Given the description of an element on the screen output the (x, y) to click on. 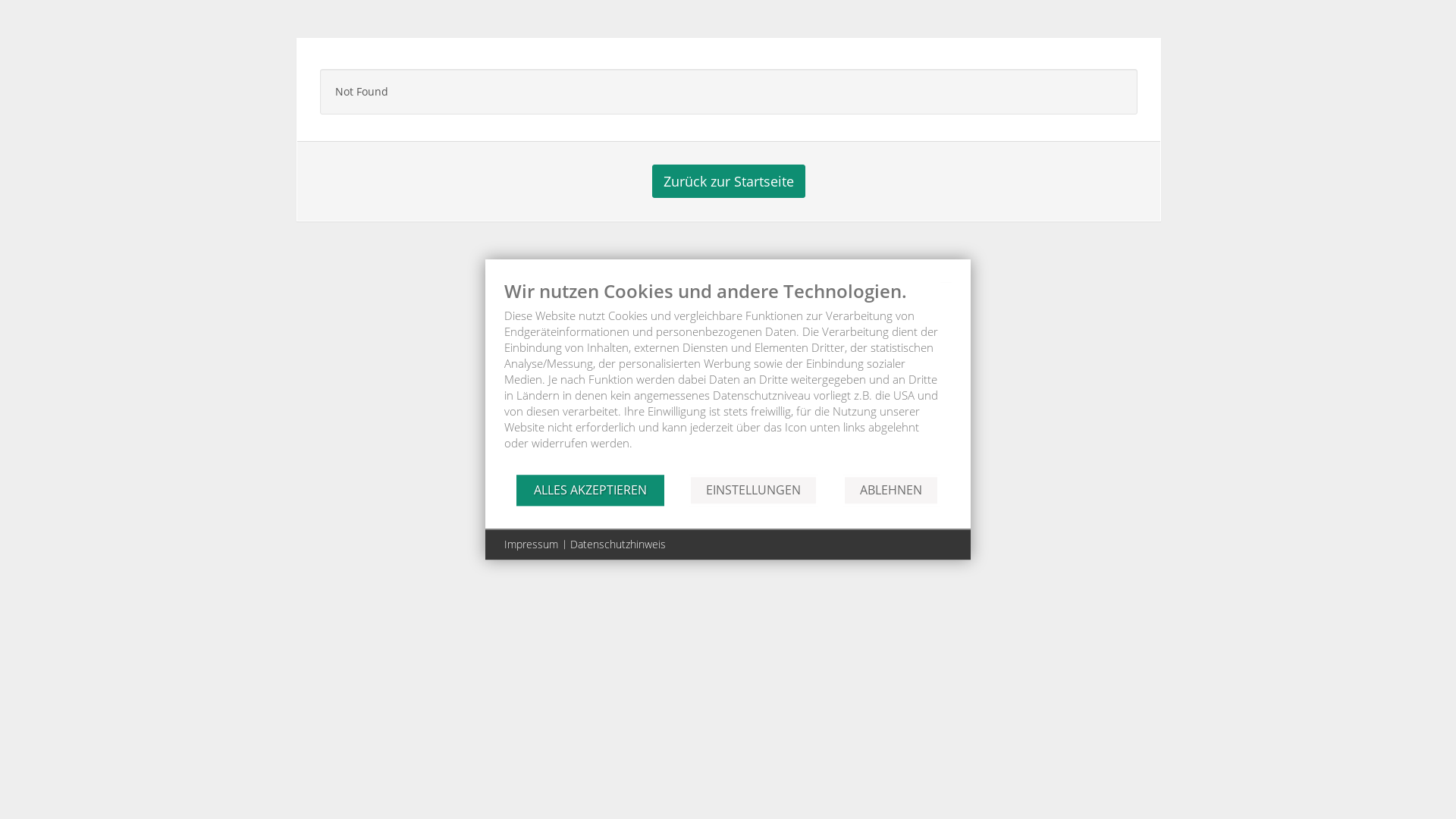
EINSTELLUNGEN Element type: text (753, 489)
ABLEHNEN Element type: text (890, 489)
ALLES AKZEPTIEREN Element type: text (590, 489)
Datenschutzhinweis Element type: text (617, 544)
Impressum Element type: text (531, 544)
